Given the description of an element on the screen output the (x, y) to click on. 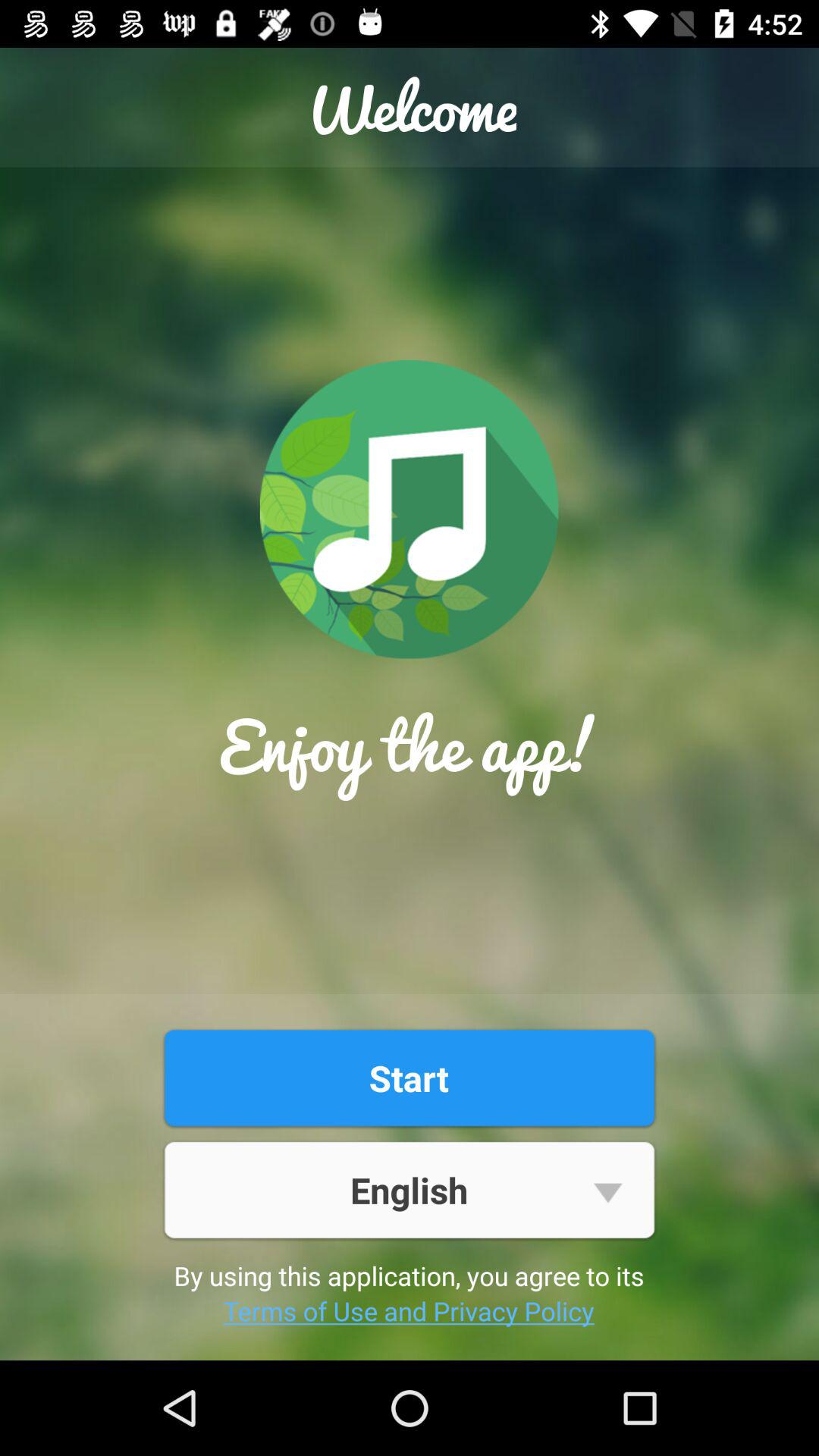
turn on english (409, 1190)
